Given the description of an element on the screen output the (x, y) to click on. 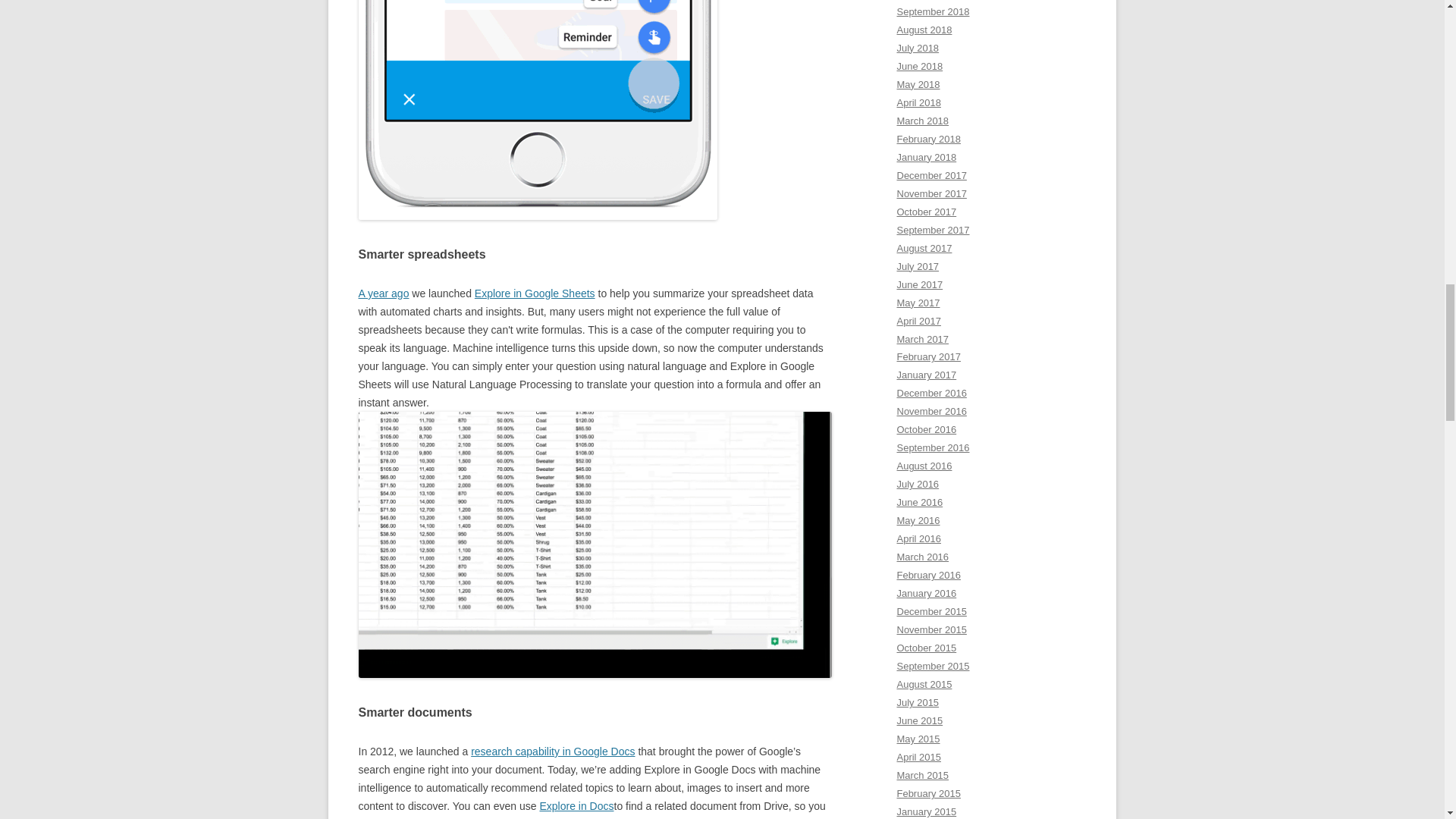
A year ago (383, 293)
research capability in Google Docs (552, 751)
Explore in Docs (575, 806)
Explore in Google Sheets (534, 293)
